Given the description of an element on the screen output the (x, y) to click on. 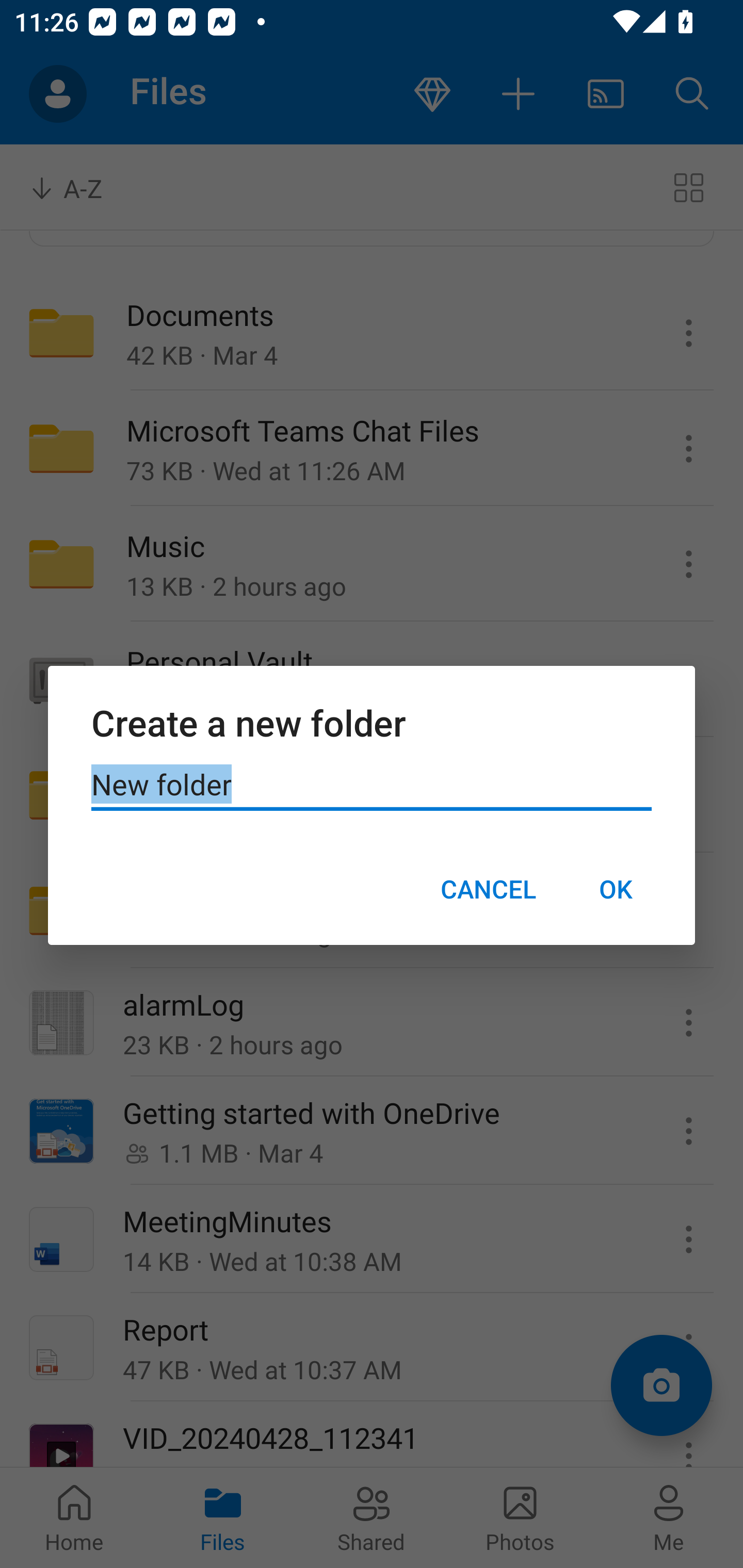
New folder (371, 784)
CANCEL (488, 888)
OK (615, 888)
